Given the description of an element on the screen output the (x, y) to click on. 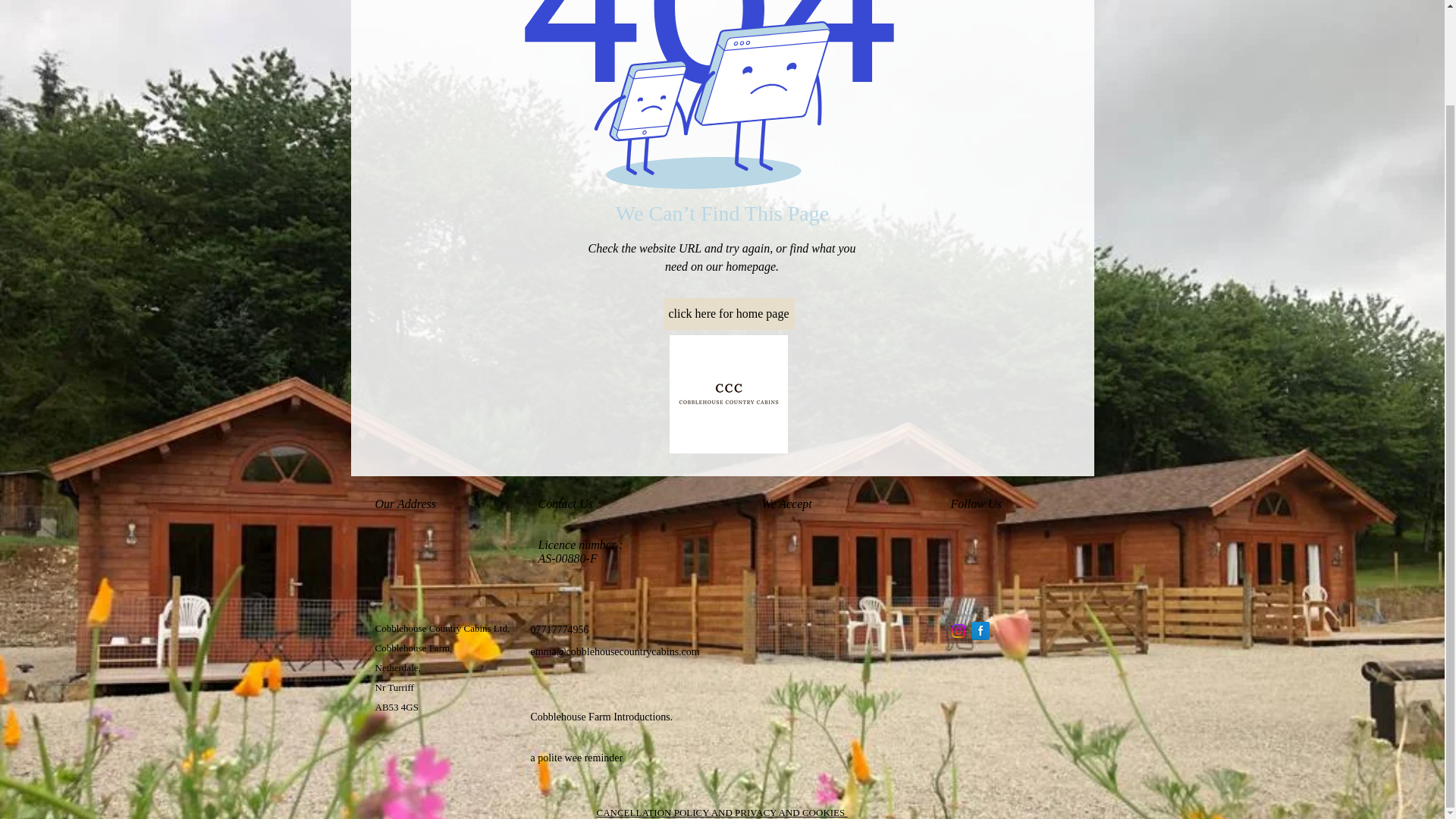
Cobblehouse Farm Introductions. (601, 716)
ATION POLICY AND PRIVACY AND COOKIES  (744, 812)
07717774956 (560, 629)
click here for home page (727, 314)
CANCELL (618, 812)
a polite wee reminder (577, 757)
